Given the description of an element on the screen output the (x, y) to click on. 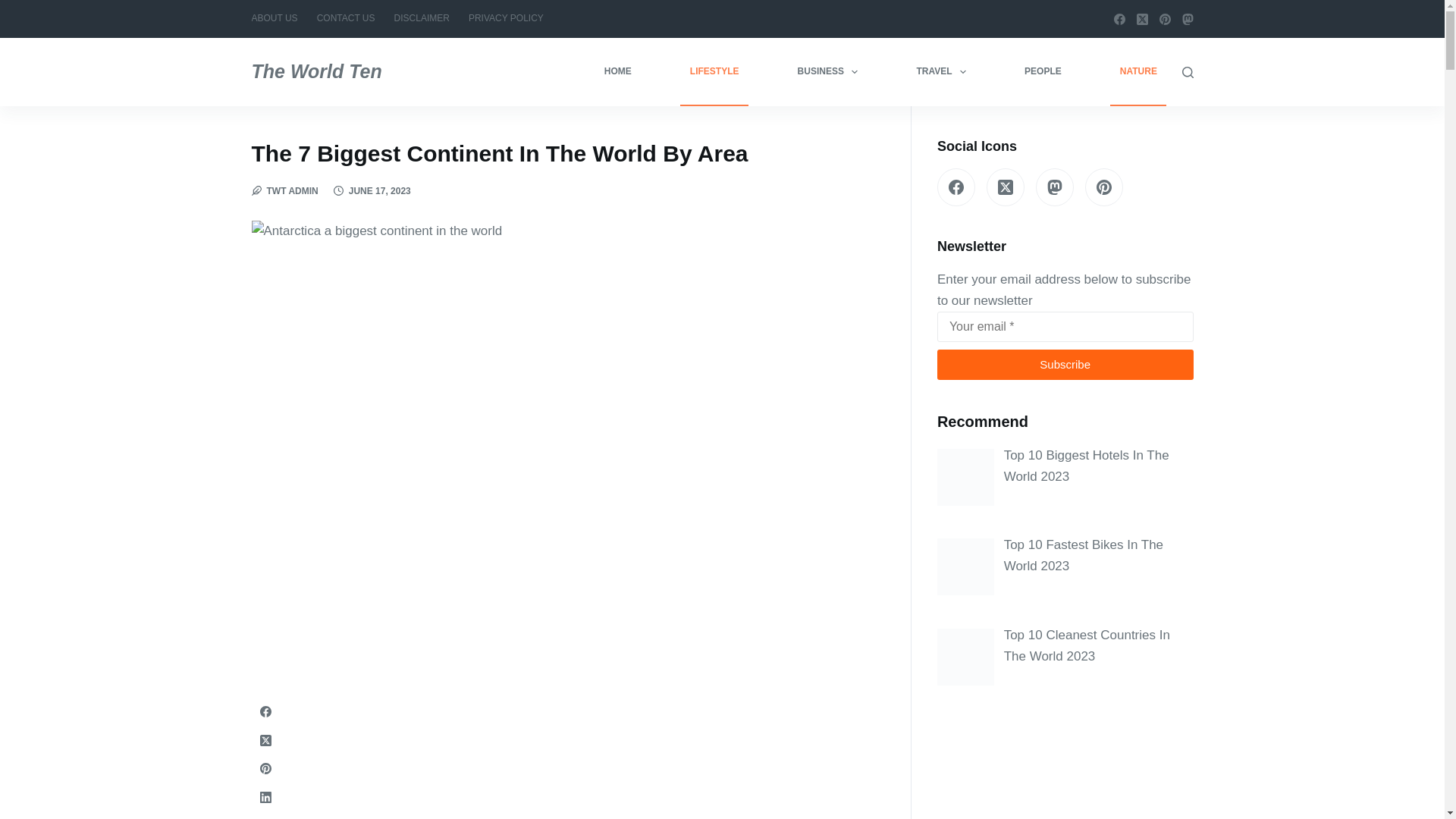
CONTACT US (345, 18)
ABOUT US (279, 18)
Email (1065, 327)
Posts by TWT Admin (292, 190)
BUSINESS (827, 71)
The World Ten (316, 70)
The 7 Biggest Continent In The World By Area (581, 153)
LIFESTYLE (713, 71)
DISCLAIMER (421, 18)
Skip to content (15, 7)
PRIVACY POLICY (505, 18)
TRAVEL (941, 71)
